Given the description of an element on the screen output the (x, y) to click on. 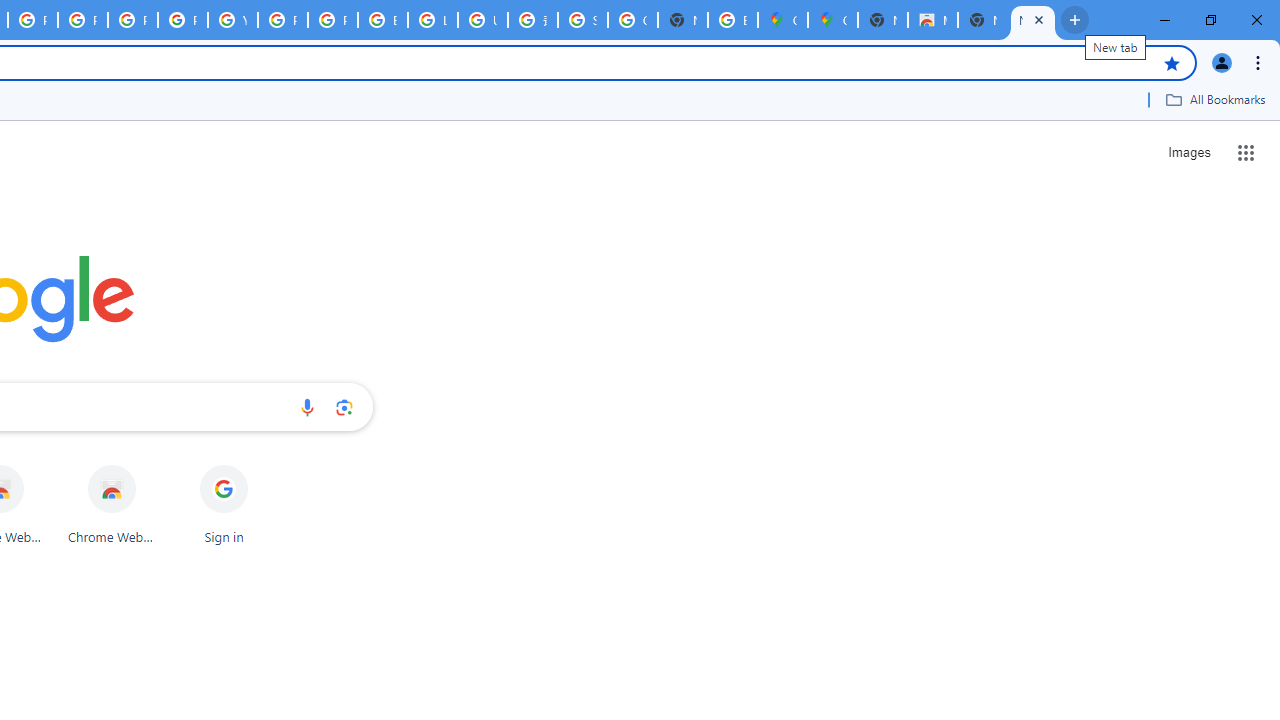
Google Maps (782, 20)
Chrome Web Store (111, 504)
Privacy Help Center - Policies Help (82, 20)
Remove (263, 466)
YouTube (232, 20)
New Tab (882, 20)
